Given the description of an element on the screen output the (x, y) to click on. 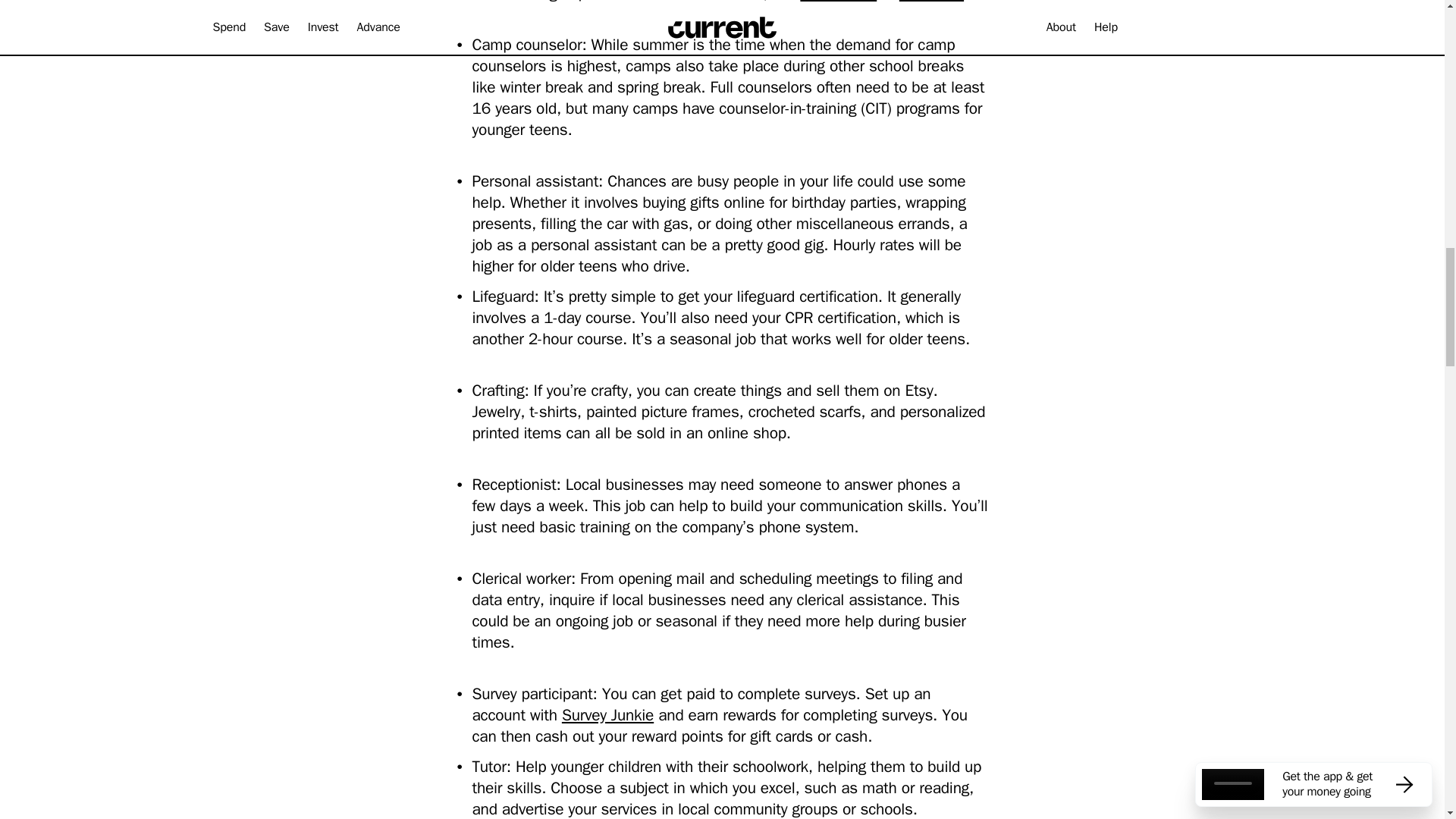
UrbanSitter (837, 1)
Care.com (931, 1)
Survey Junkie (607, 714)
